Given the description of an element on the screen output the (x, y) to click on. 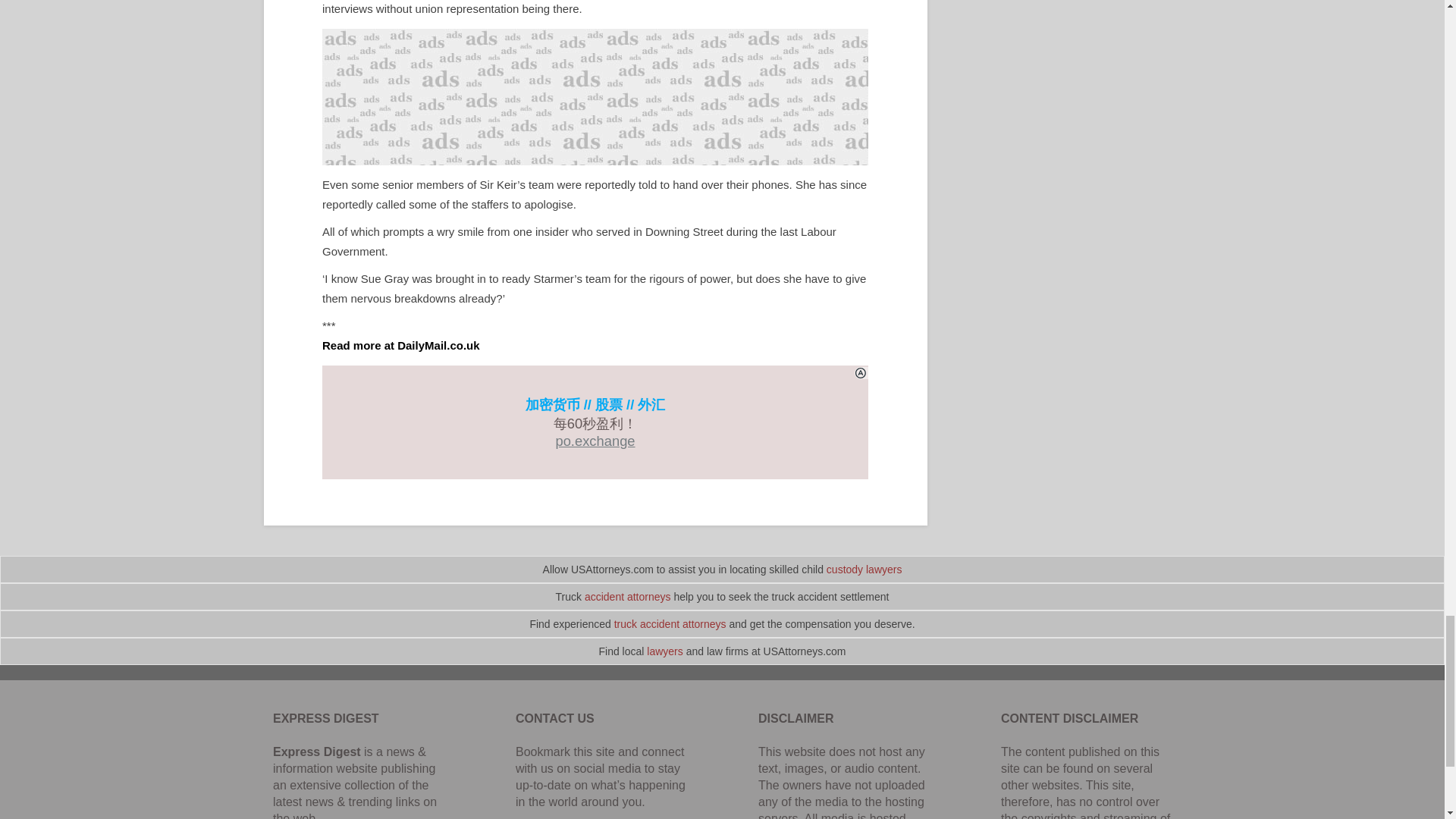
Read more at DailyMail.co.uk (400, 345)
accident attorneys (628, 596)
lawyers (664, 651)
custody lawyers (864, 569)
truck accident attorneys (670, 623)
